Given the description of an element on the screen output the (x, y) to click on. 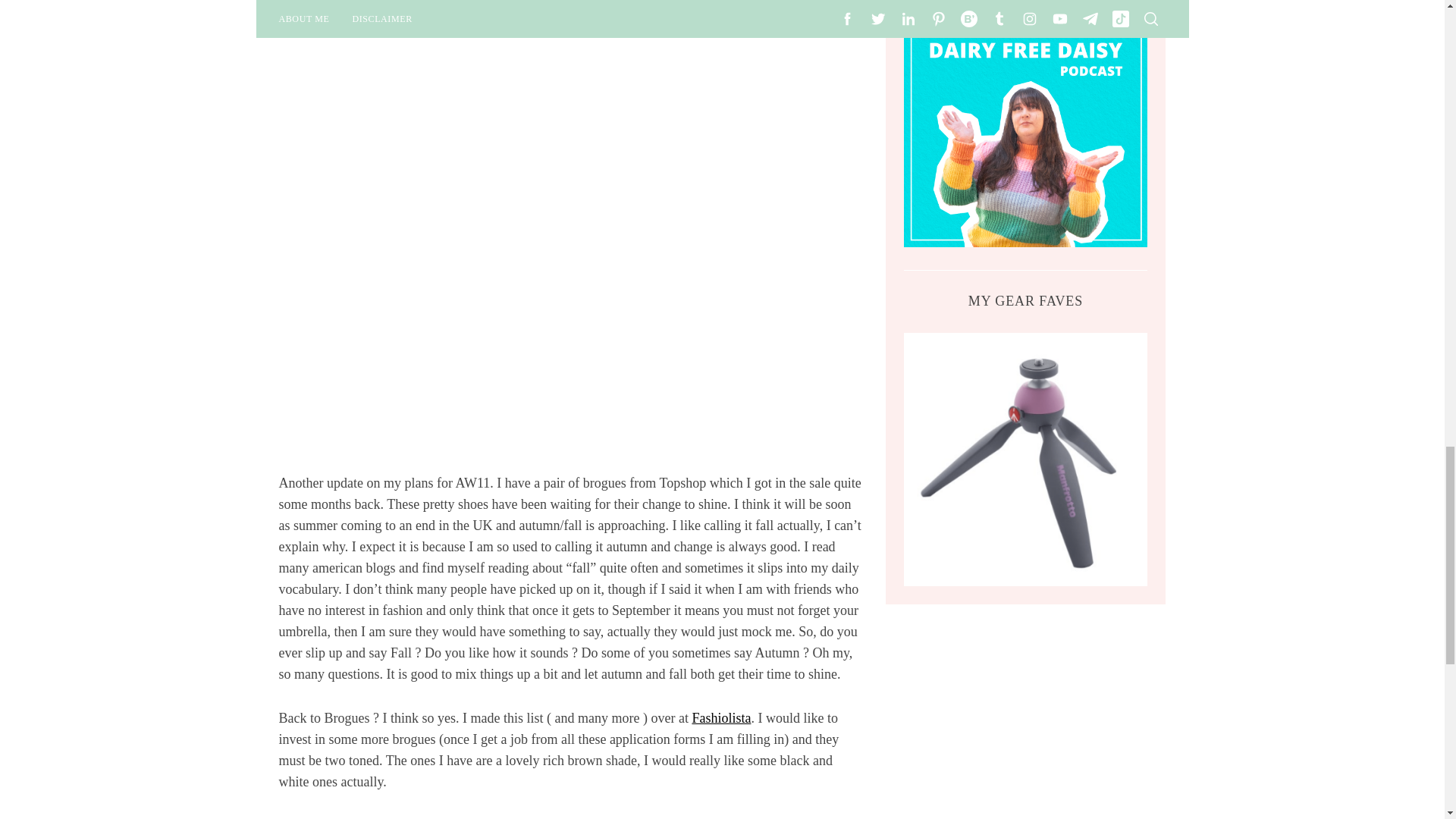
Fashiolista (721, 717)
